Given the description of an element on the screen output the (x, y) to click on. 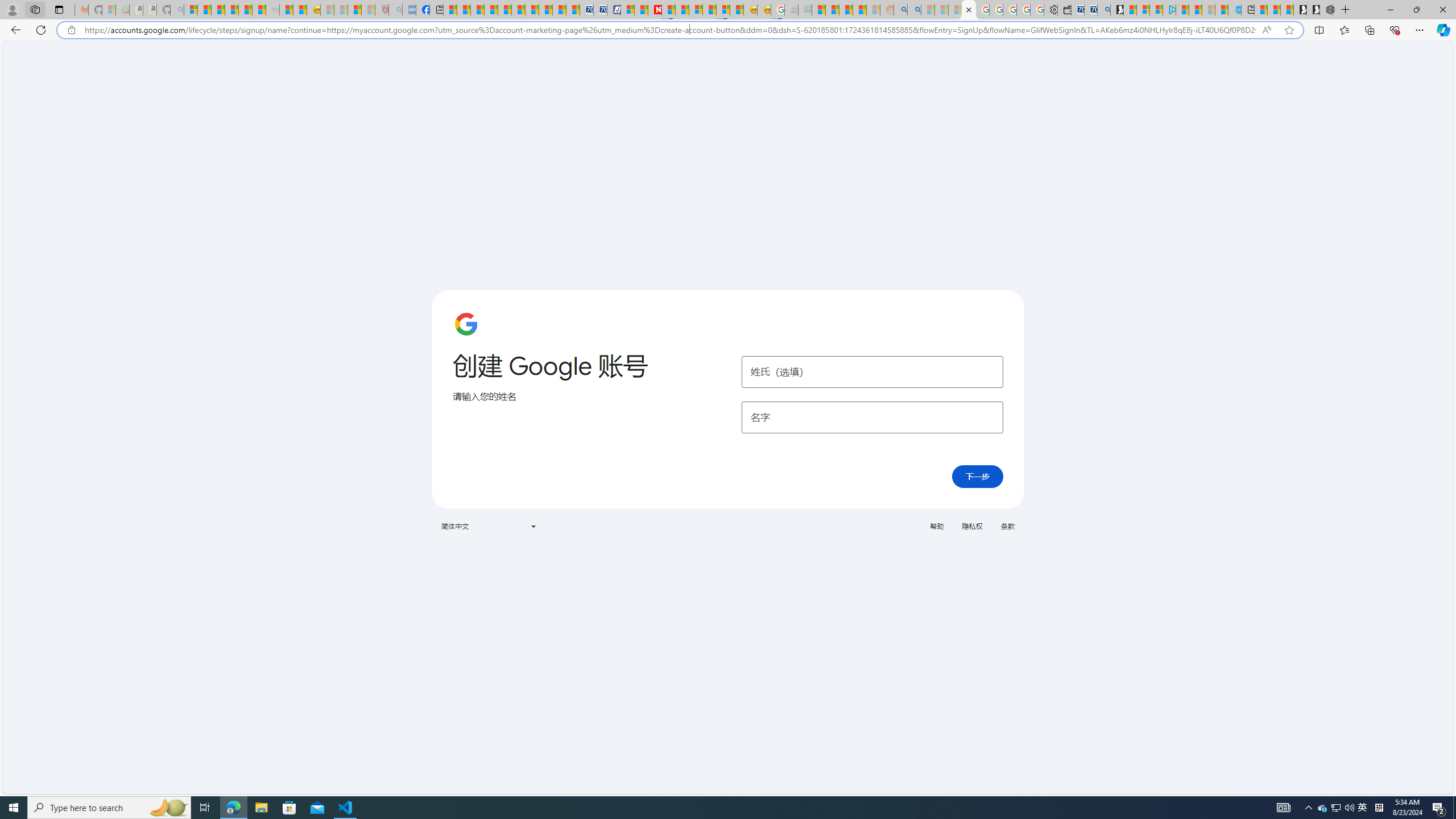
Utah sues federal government - Search (914, 9)
World - MSN (477, 9)
